Given the description of an element on the screen output the (x, y) to click on. 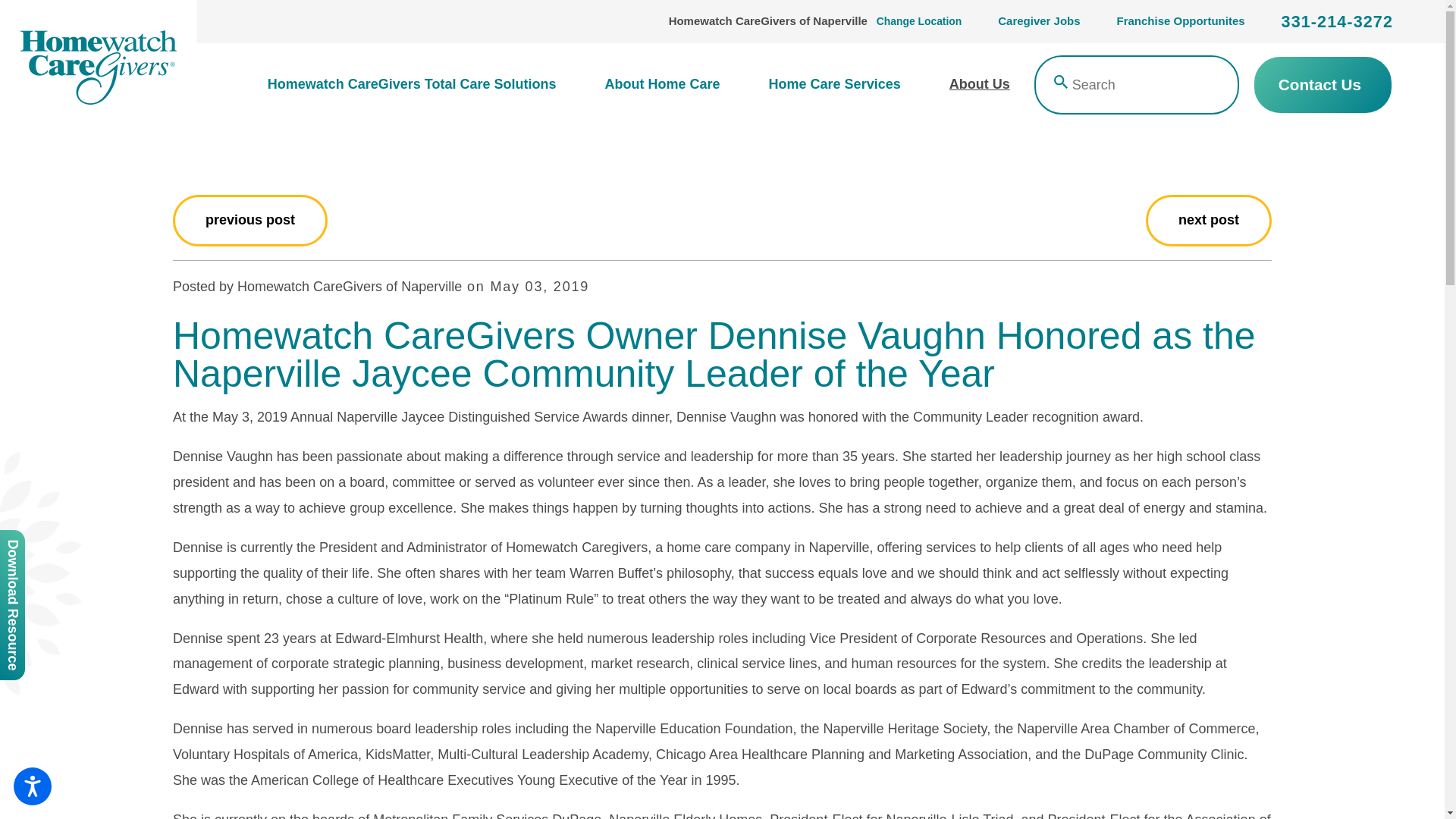
Open the accessibility options menu (31, 786)
331-214-3272 (1337, 21)
Homewatch CareGivers of Naperville (98, 63)
Change Location (918, 21)
Homewatch CareGivers Total Care Solutions (423, 85)
About Home Care (661, 85)
Franchise Opportunites (1180, 20)
Home Care Services (834, 85)
Caregiver Jobs (1038, 20)
